Given the description of an element on the screen output the (x, y) to click on. 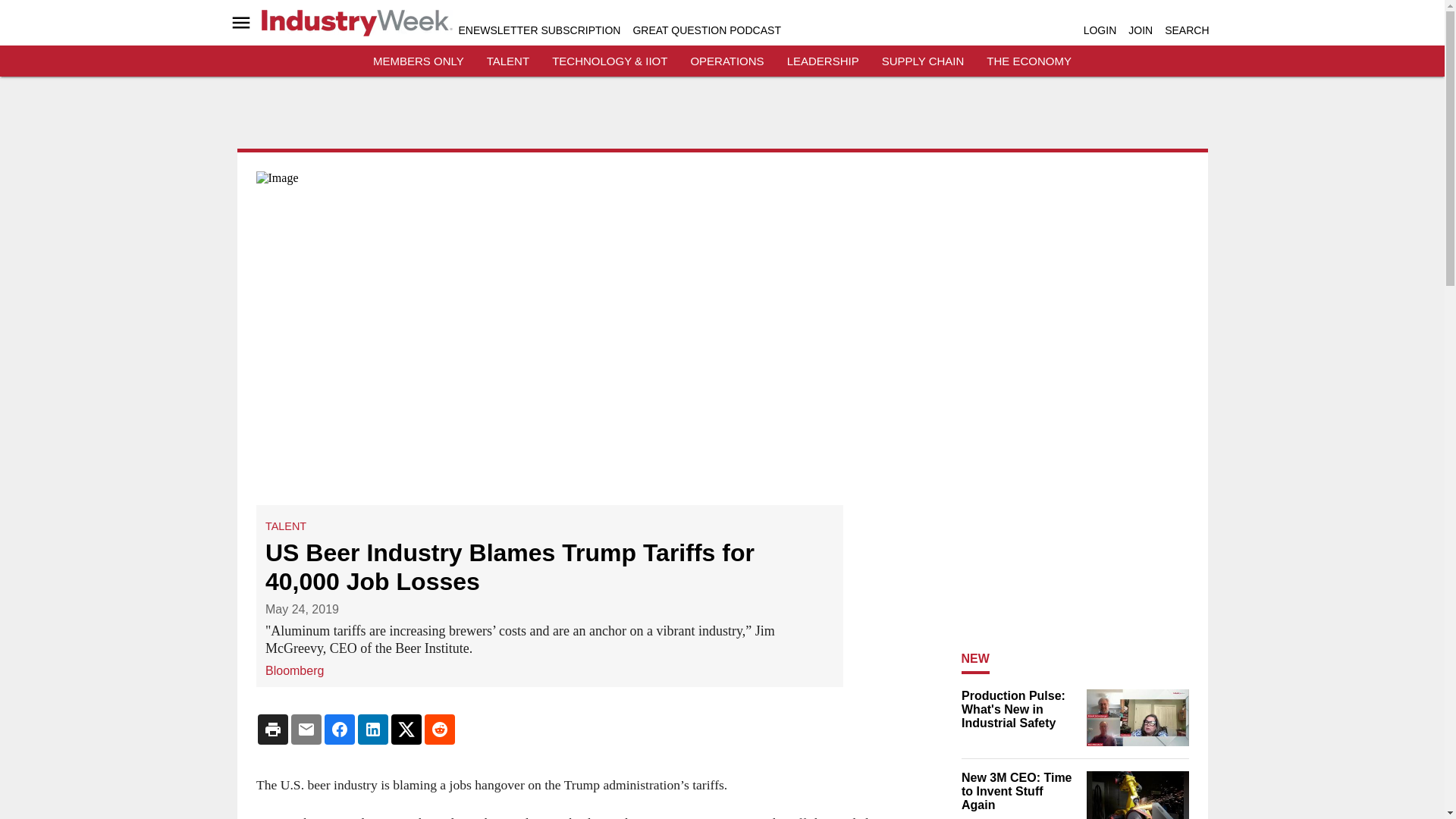
SEARCH (1186, 30)
JOIN (1140, 30)
GREAT QUESTION PODCAST (705, 30)
LOGIN (1099, 30)
ENEWSLETTER SUBSCRIPTION (539, 30)
SUPPLY CHAIN (922, 60)
LEADERSHIP (823, 60)
THE ECONOMY (1029, 60)
MEMBERS ONLY (418, 60)
OPERATIONS (726, 60)
